Given the description of an element on the screen output the (x, y) to click on. 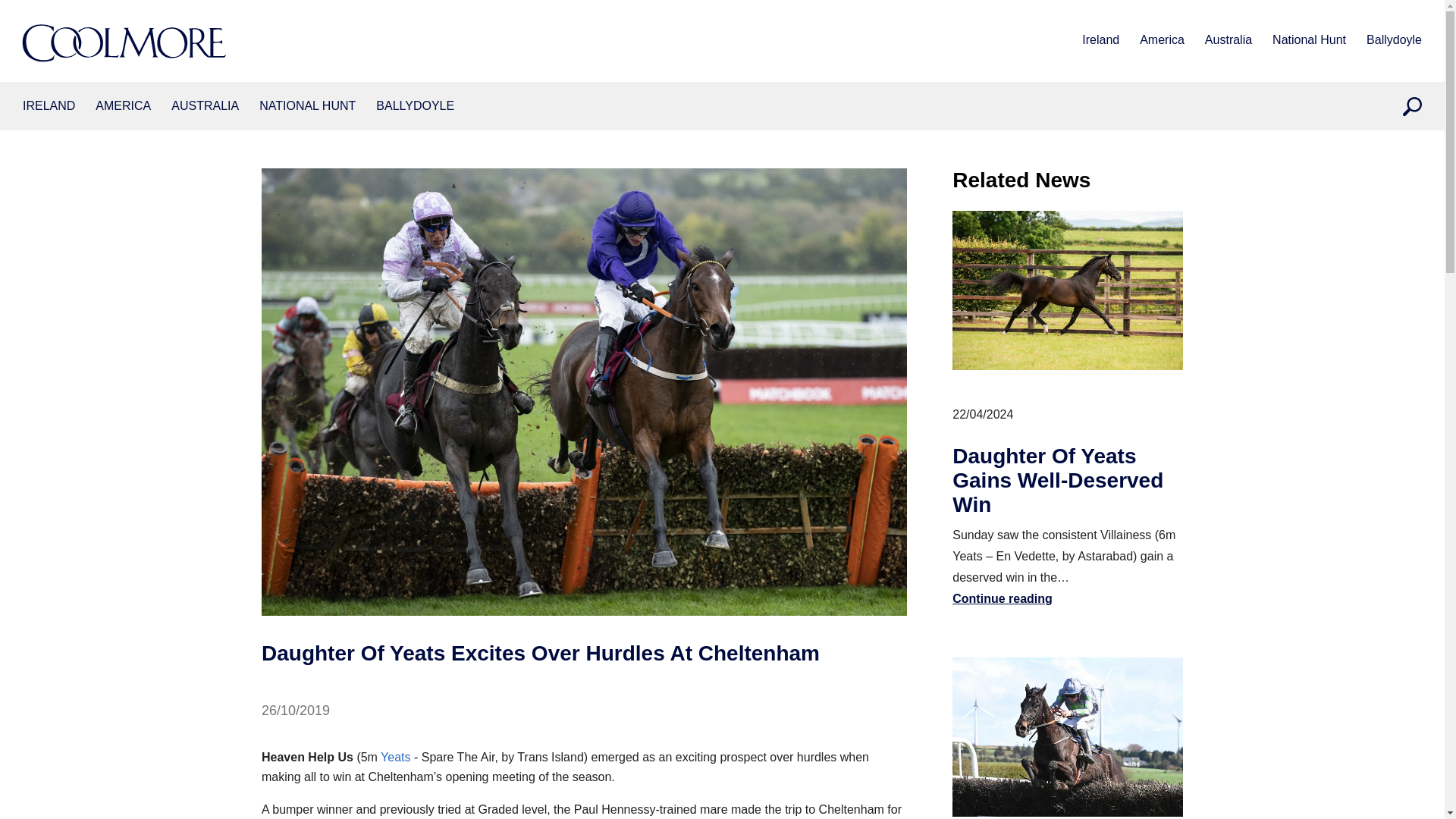
Yeats (395, 757)
Australia (204, 106)
Ballydoyle (1394, 40)
Australia (1228, 40)
NATIONAL HUNT (307, 106)
icon-magCreated with Sketch. (1412, 106)
IRELAND (49, 106)
Ireland (49, 106)
Ireland (1100, 40)
National Hunt (307, 106)
National Hunt (1308, 40)
AUSTRALIA (204, 106)
America (1162, 40)
AMERICA (123, 106)
America (123, 106)
